Given the description of an element on the screen output the (x, y) to click on. 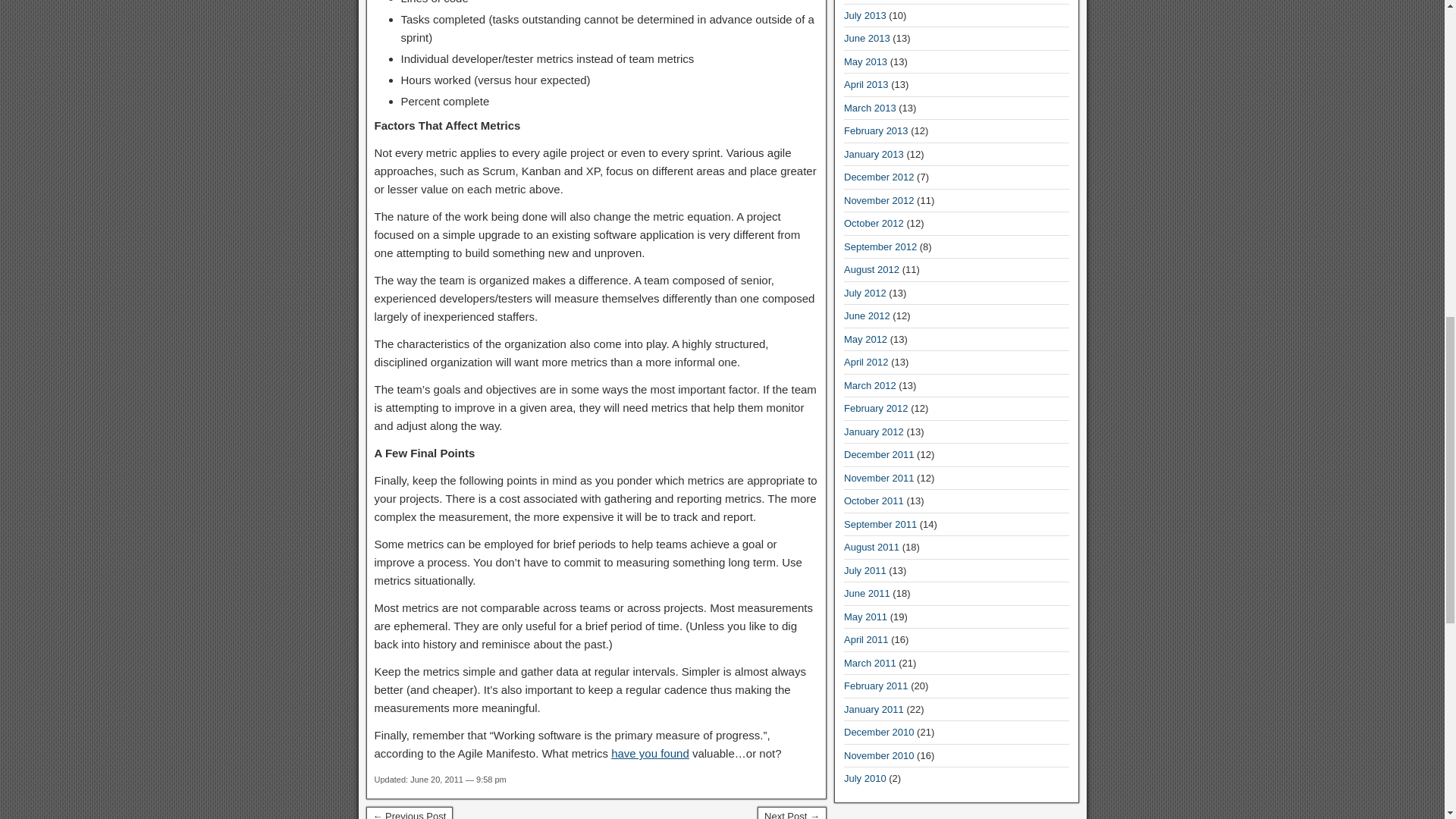
have you found (649, 753)
To Be More Agile, Reduce the Abstractions (408, 812)
June 2013 (866, 38)
May 2013 (865, 61)
Software: Is It 'Beta' or Is It Junk? (792, 812)
April 2013 (866, 84)
July 2013 (865, 15)
